Given the description of an element on the screen output the (x, y) to click on. 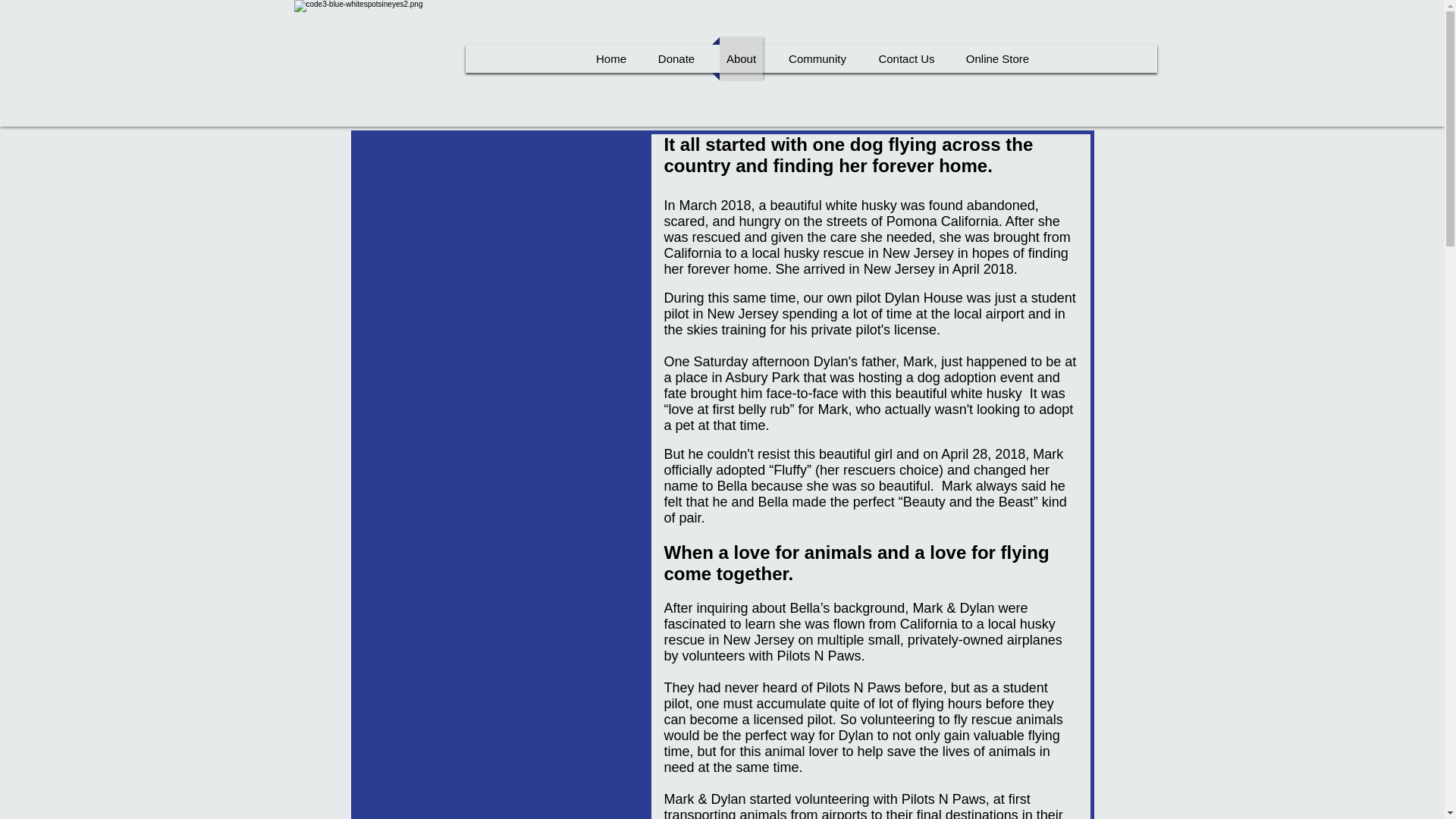
Community (817, 58)
Home (610, 58)
Contact Us (906, 58)
About (740, 58)
Donate (676, 58)
Online Store (997, 58)
